Given the description of an element on the screen output the (x, y) to click on. 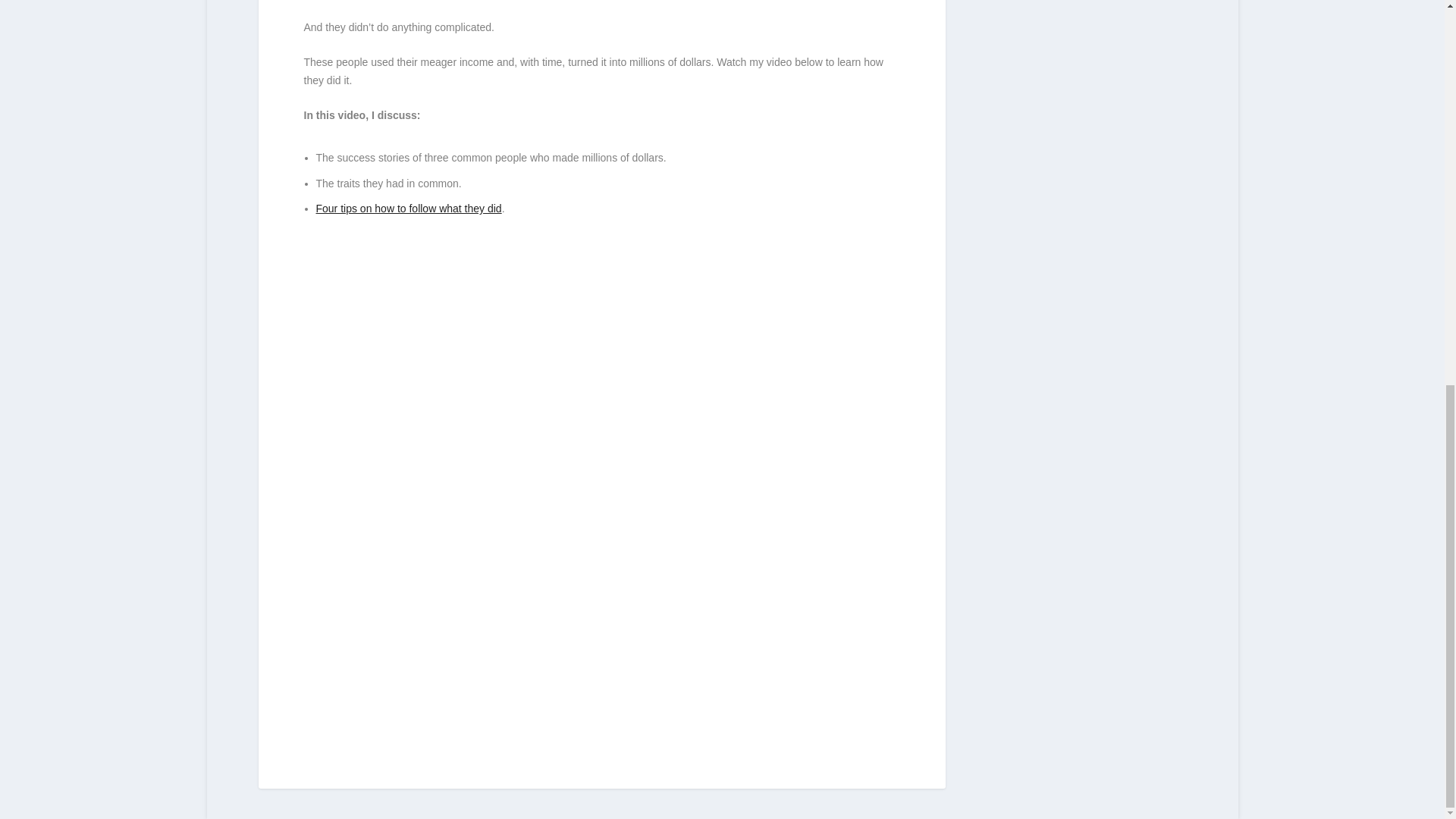
Four tips on how to follow what they did (407, 208)
